Given the description of an element on the screen output the (x, y) to click on. 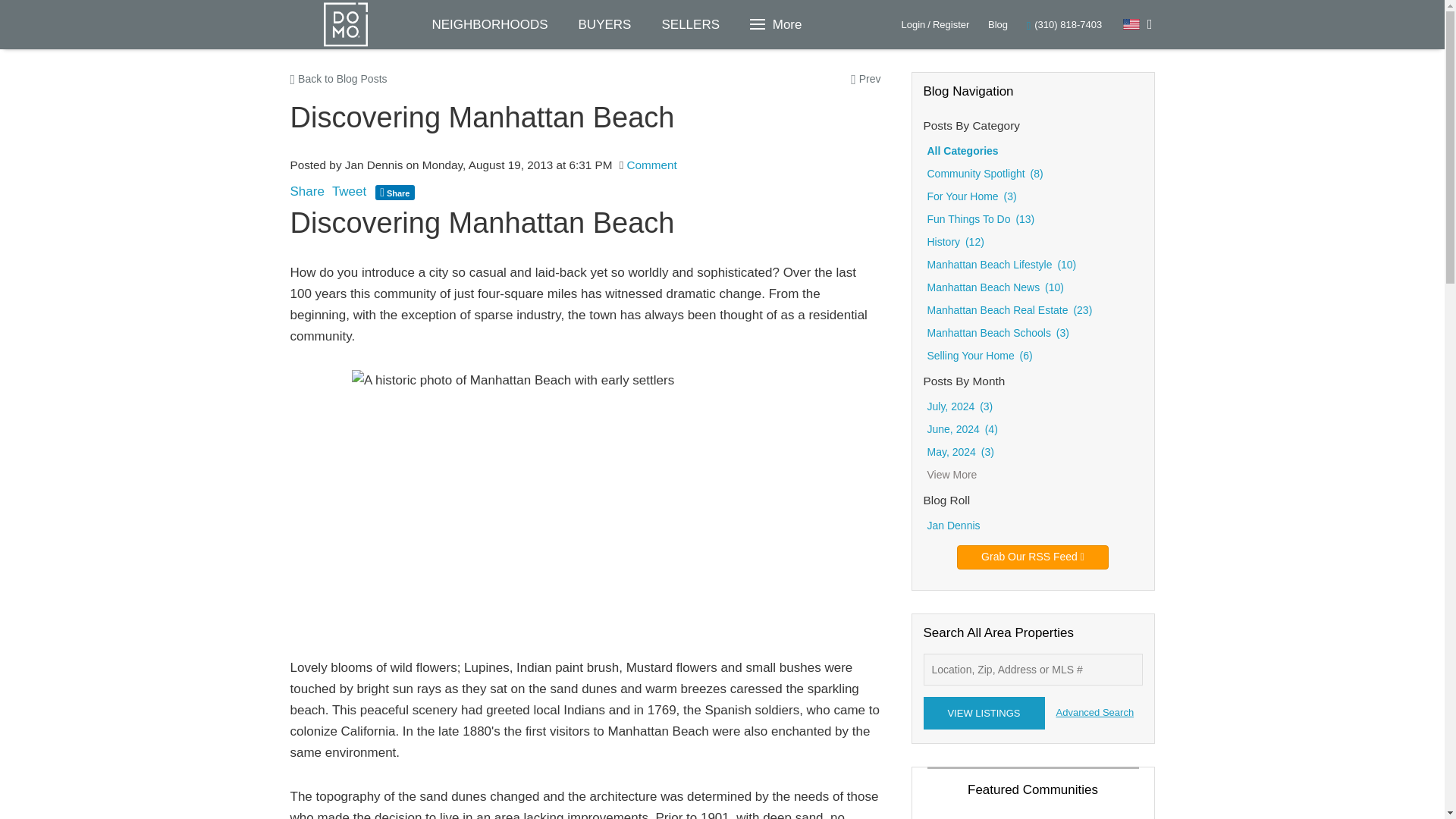
BUYERS (604, 24)
NEIGHBORHOODS (489, 24)
SELLERS (690, 24)
Select Language (1137, 24)
